Given the description of an element on the screen output the (x, y) to click on. 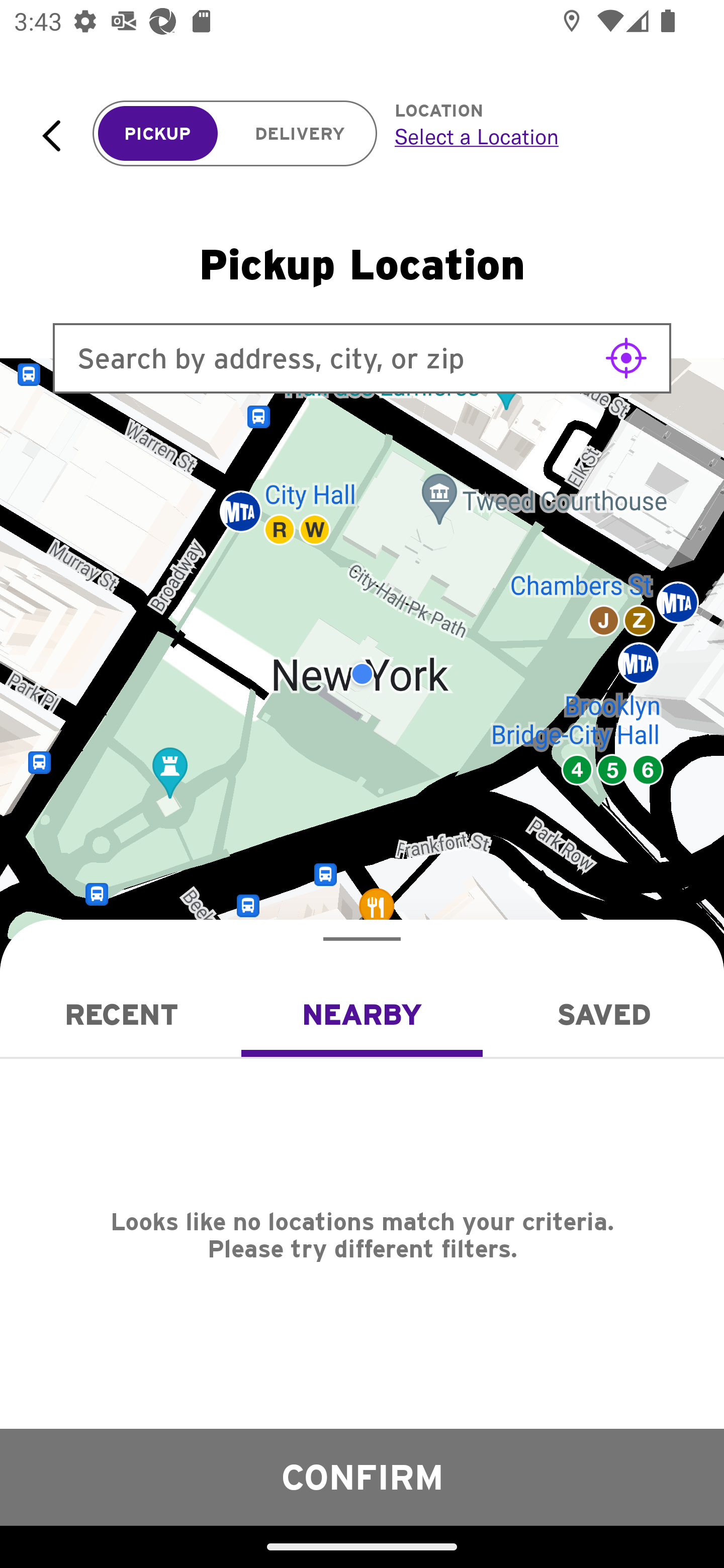
PICKUP (157, 133)
DELIVERY (299, 133)
Select a Location (536, 136)
Search by address, city, or zip (361, 358)
Google Map (362, 674)
Recent RECENT (120, 1014)
Saved SAVED (603, 1014)
CONFIRM (362, 1476)
